Given the description of an element on the screen output the (x, y) to click on. 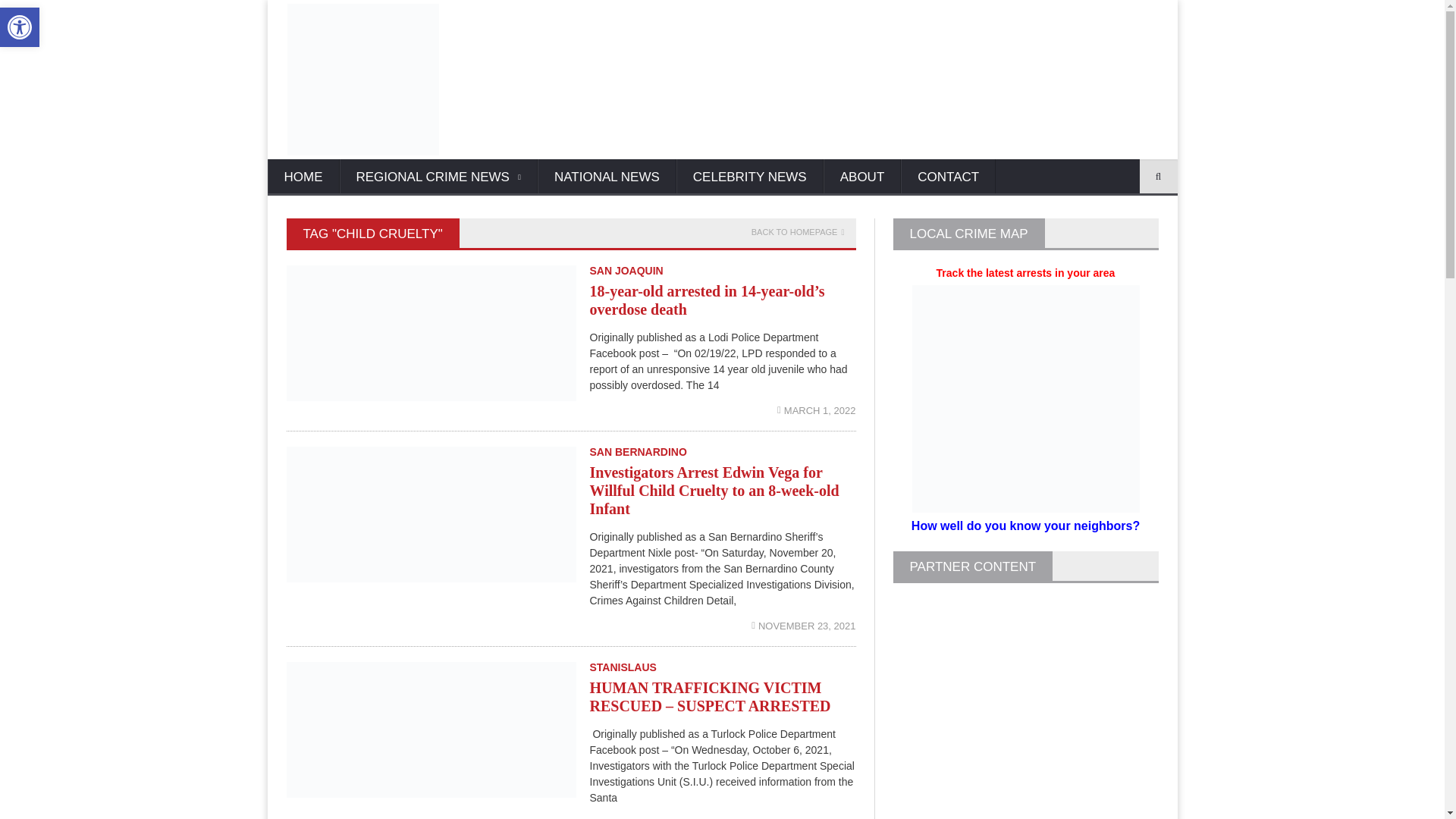
CONTACT (948, 176)
MARCH 1, 2022 (816, 410)
NATIONAL NEWS (607, 176)
REGIONAL CRIME NEWS (438, 176)
About Crime Voice (862, 176)
Latest Arrests in your area (1024, 291)
Regional Crime News (438, 176)
BACK TO HOMEPAGE (797, 232)
Accessibility Tools (19, 27)
